Given the description of an element on the screen output the (x, y) to click on. 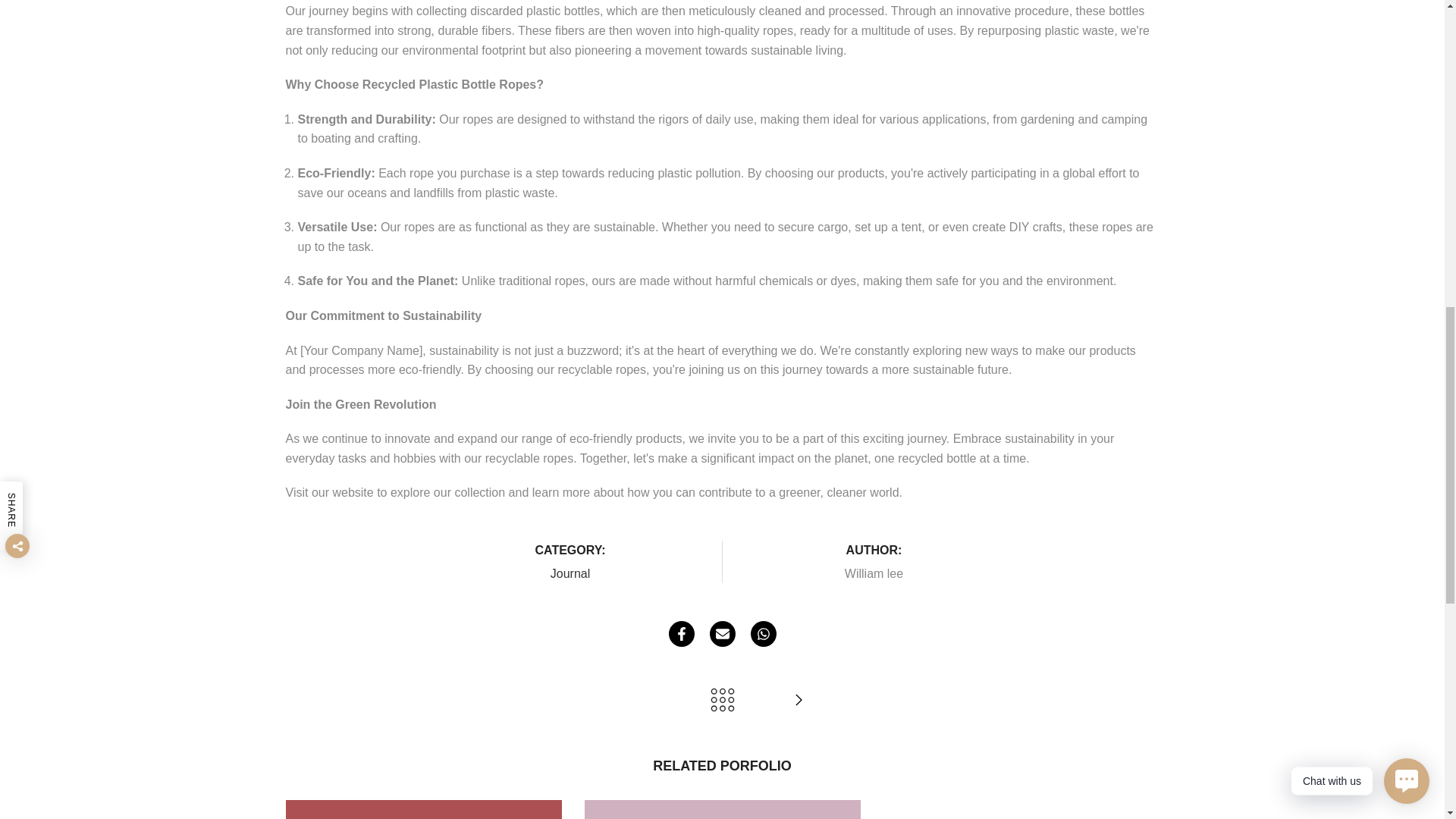
Back to Journal (722, 700)
Share on Email (722, 633)
Share on WhatsApp (763, 633)
Share on Facebook (681, 633)
Journal (569, 573)
